Given the description of an element on the screen output the (x, y) to click on. 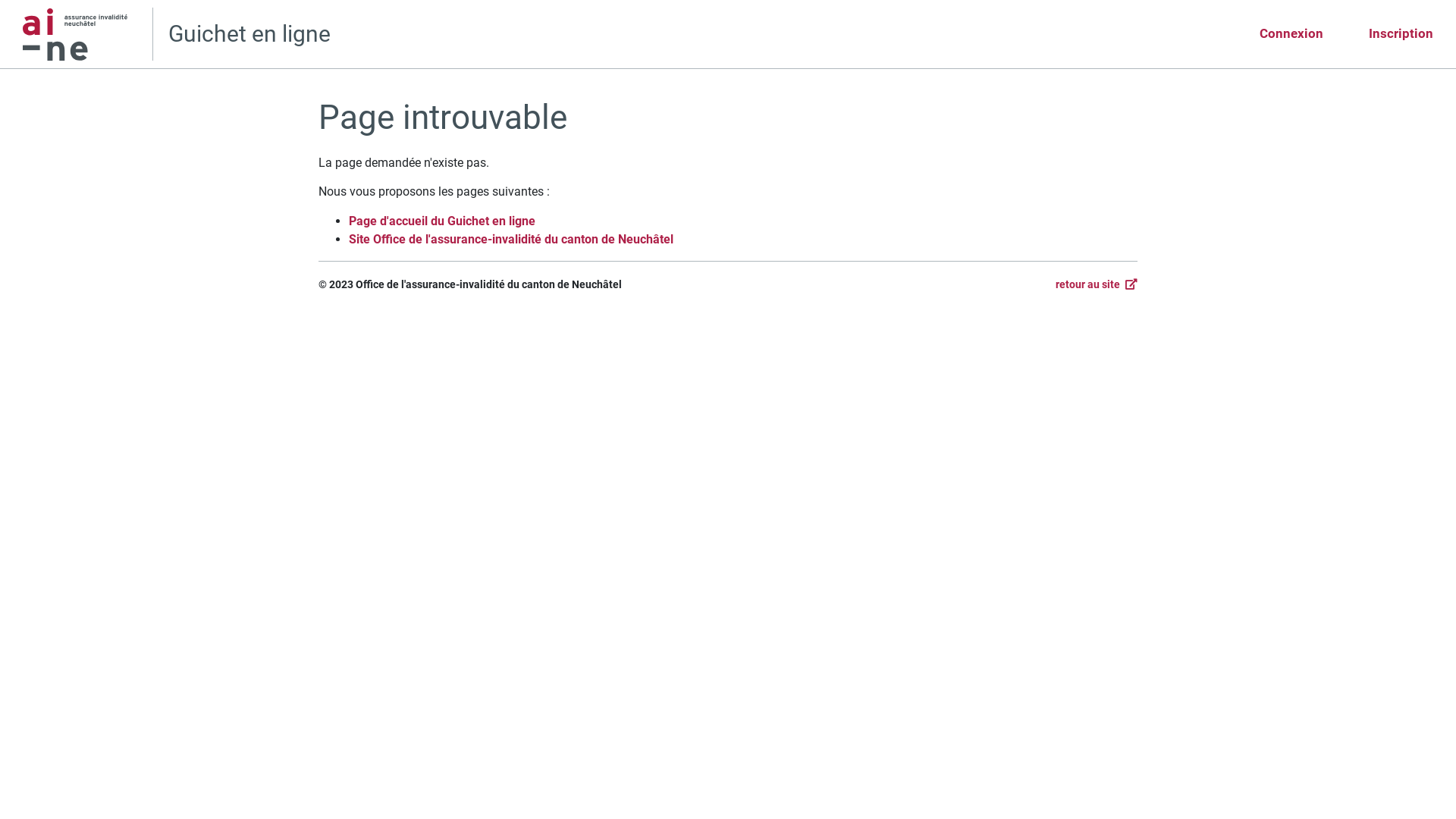
retour au site Element type: text (1096, 284)
Connexion Element type: text (1291, 34)
Page d'accueil du Guichet en ligne Element type: text (441, 220)
